Given the description of an element on the screen output the (x, y) to click on. 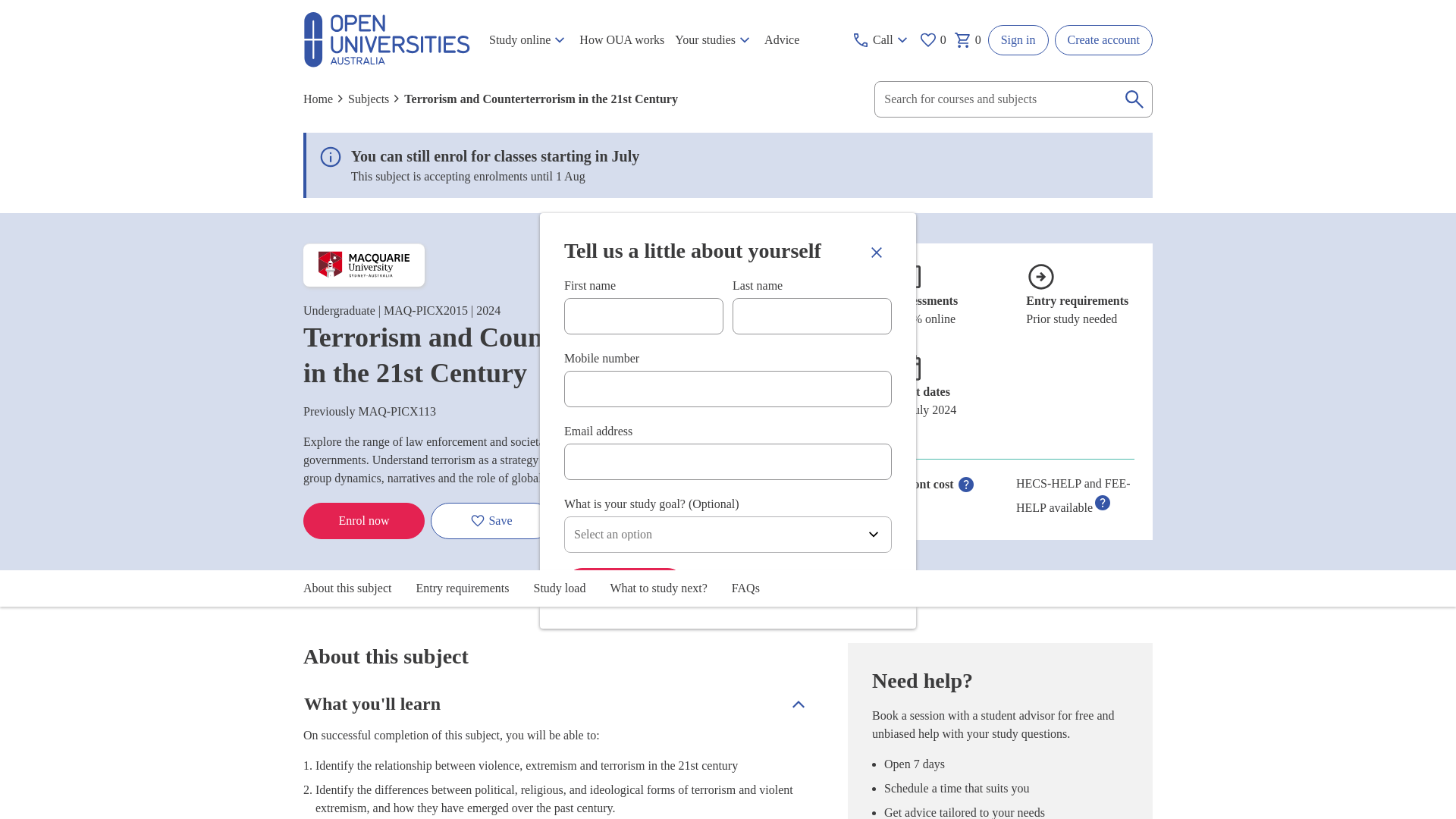
How OUA works (621, 40)
Study online (528, 40)
Your studies (714, 40)
